Given the description of an element on the screen output the (x, y) to click on. 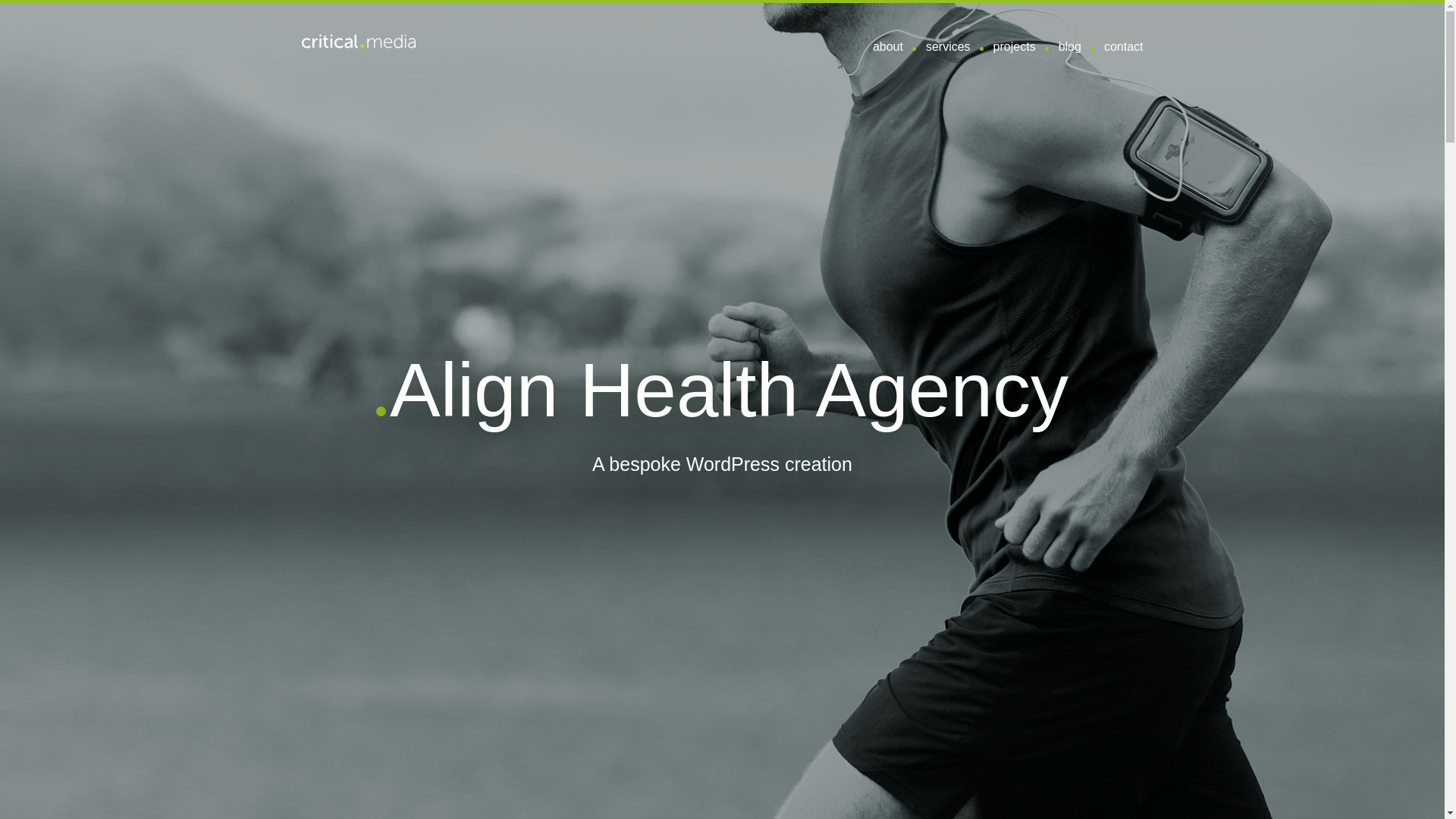
about (887, 46)
Privacy Policy (339, 739)
services (948, 46)
Terms of Service (428, 739)
projects (1013, 46)
blog (1069, 46)
contact (1122, 46)
